Given the description of an element on the screen output the (x, y) to click on. 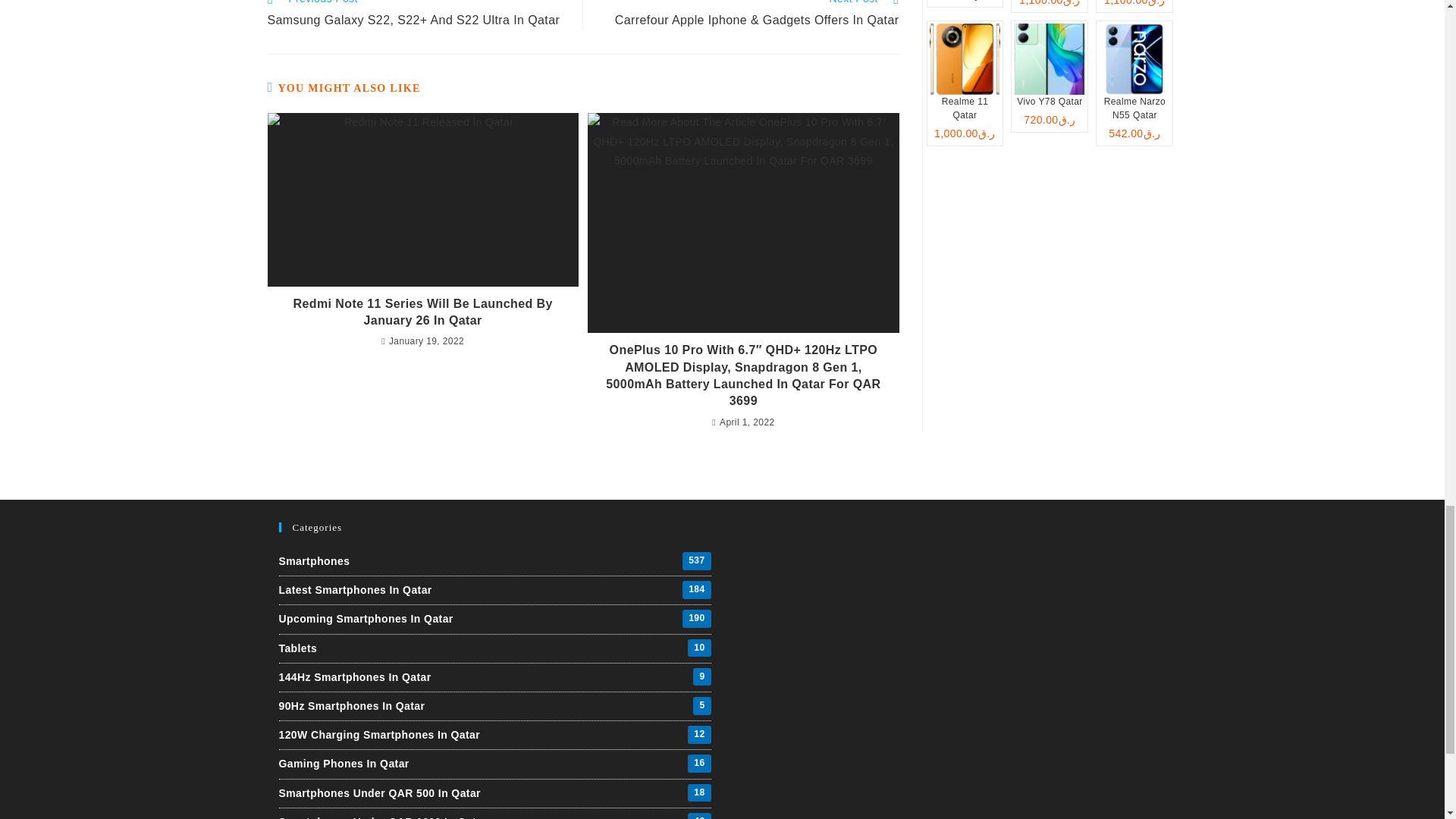
Apple iPhone 16 Pro Max price in Qatar (965, 3)
Realme 11 pro Qatar (1134, 6)
Realme 11 pro Plus Qatar (1048, 6)
